Given the description of an element on the screen output the (x, y) to click on. 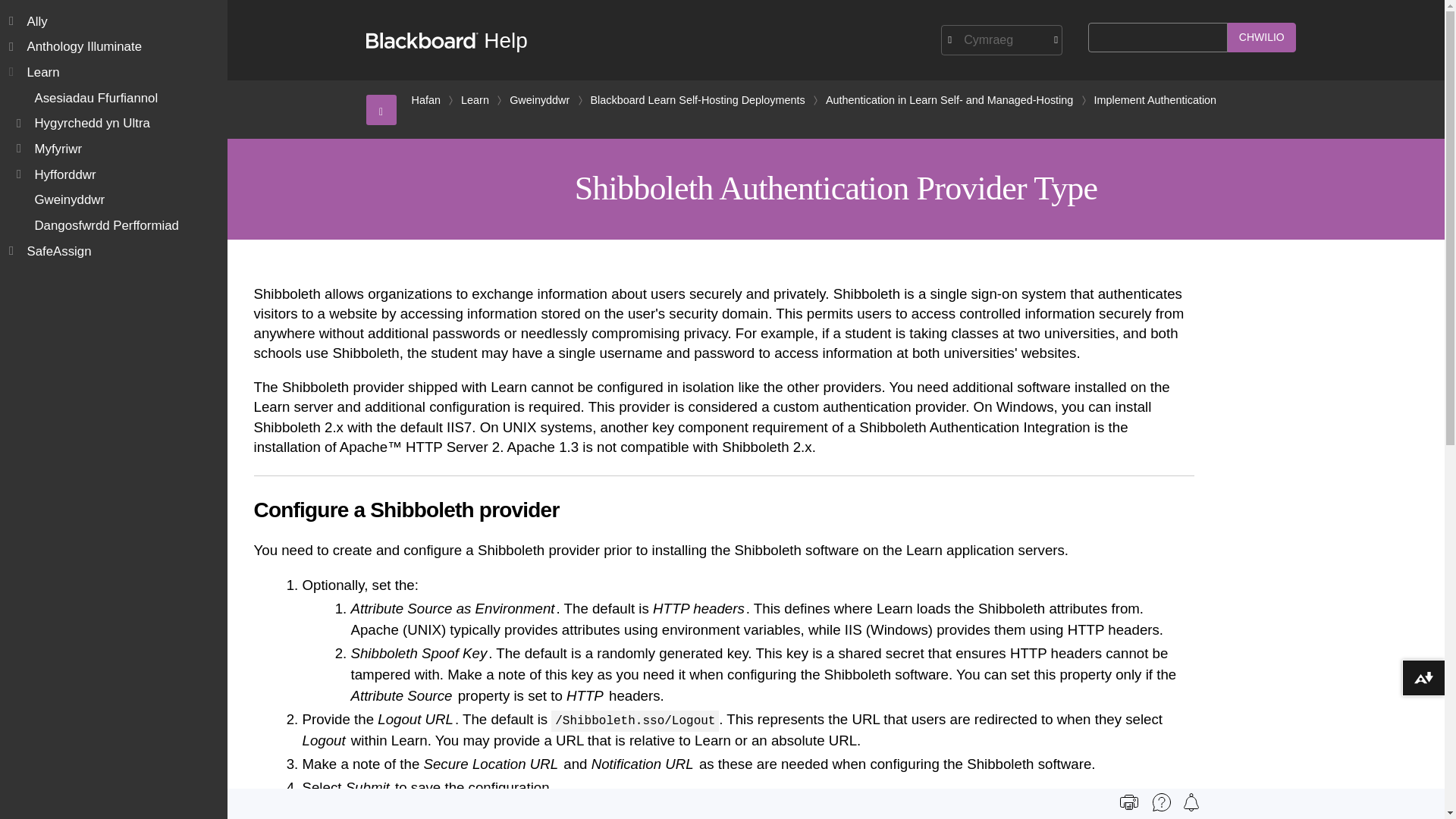
Chwilio (1261, 37)
Hafan (424, 99)
Learn (475, 99)
Gweinyddwr (539, 99)
Blackboard Learn Self-Hosting Deployments (698, 99)
Chwilio (1261, 37)
Authentication in Learn Self- and Managed-Hosting (949, 99)
Blackboard Help (446, 40)
Implement Authentication (1154, 99)
